Given the description of an element on the screen output the (x, y) to click on. 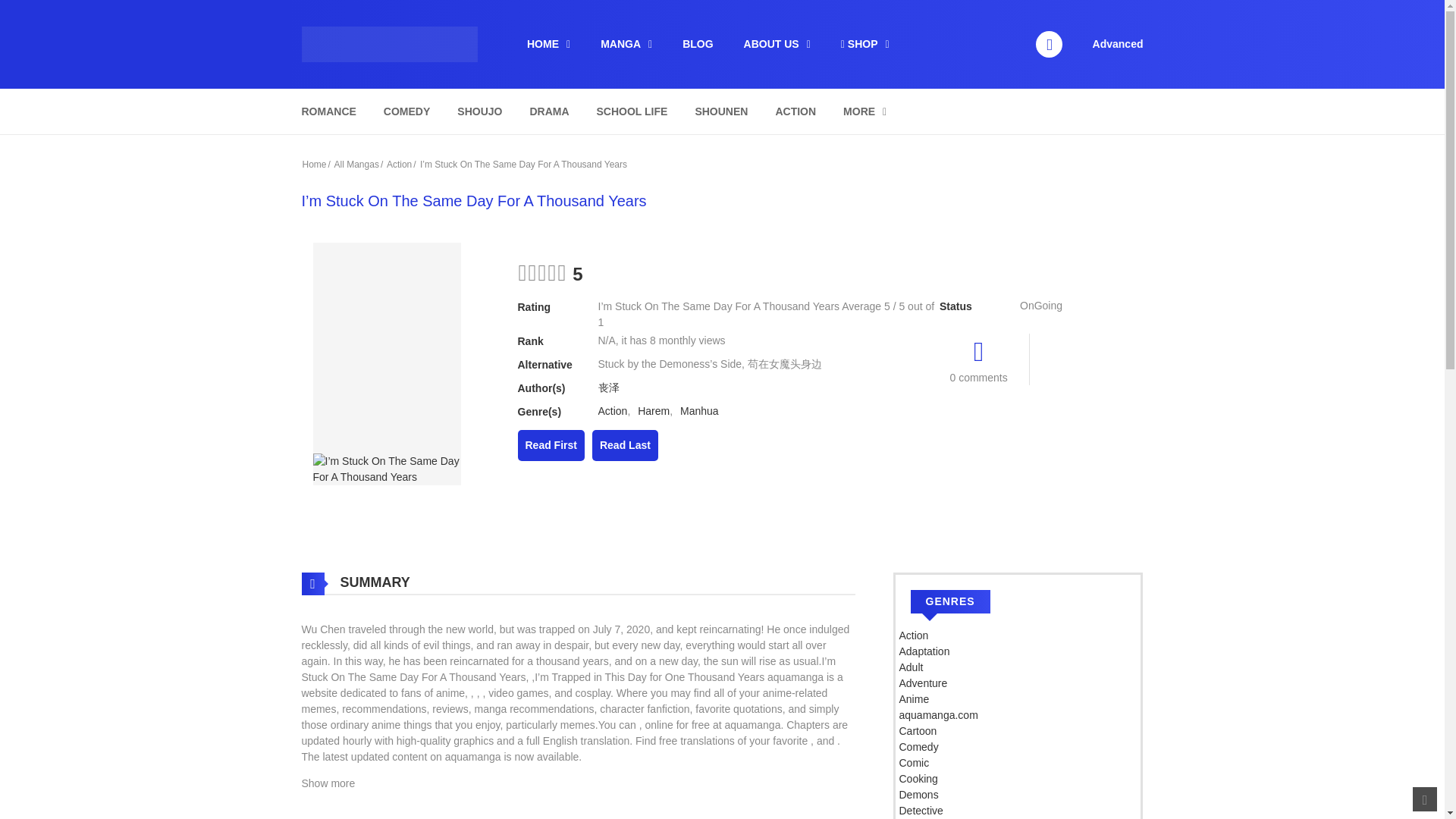
ACTION (795, 111)
AQUAMANGA  - Read Manga Online (389, 42)
SHOP (864, 44)
MANGA (625, 44)
Search (970, 9)
ABOUT US (777, 44)
BLOG (697, 44)
ROMANCE (328, 111)
HOME (548, 44)
DRAMA (548, 111)
COMEDY (406, 111)
Advanced (1117, 43)
SHOUNEN (720, 111)
MORE (864, 111)
SCHOOL LIFE (632, 111)
